Given the description of an element on the screen output the (x, y) to click on. 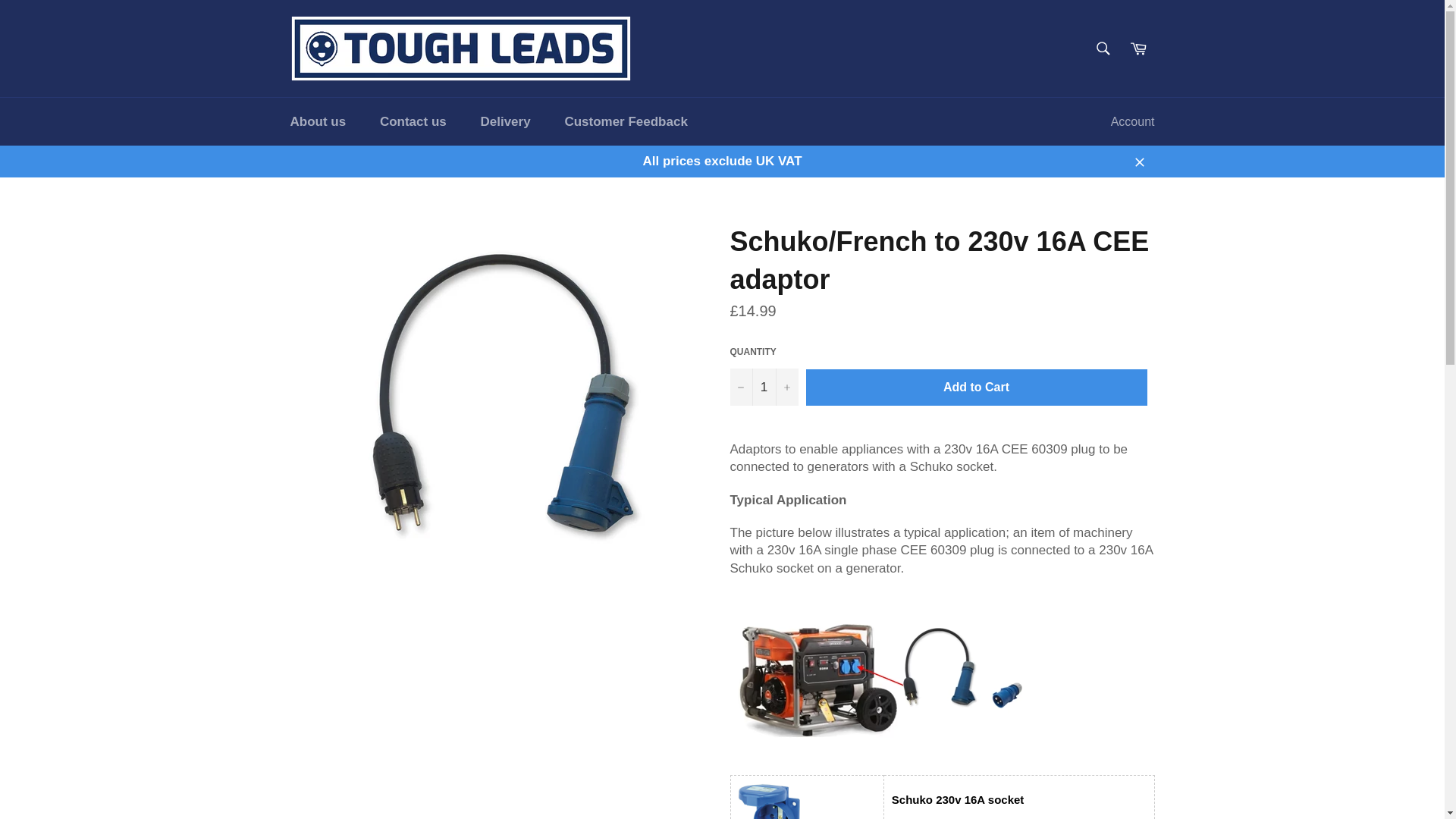
Close (1139, 160)
Contact us (413, 121)
Customer Feedback (625, 121)
Search (1103, 48)
Account (1132, 121)
About us (318, 121)
Cart (1138, 48)
Add to Cart (976, 387)
1 (763, 386)
Delivery (504, 121)
